Given the description of an element on the screen output the (x, y) to click on. 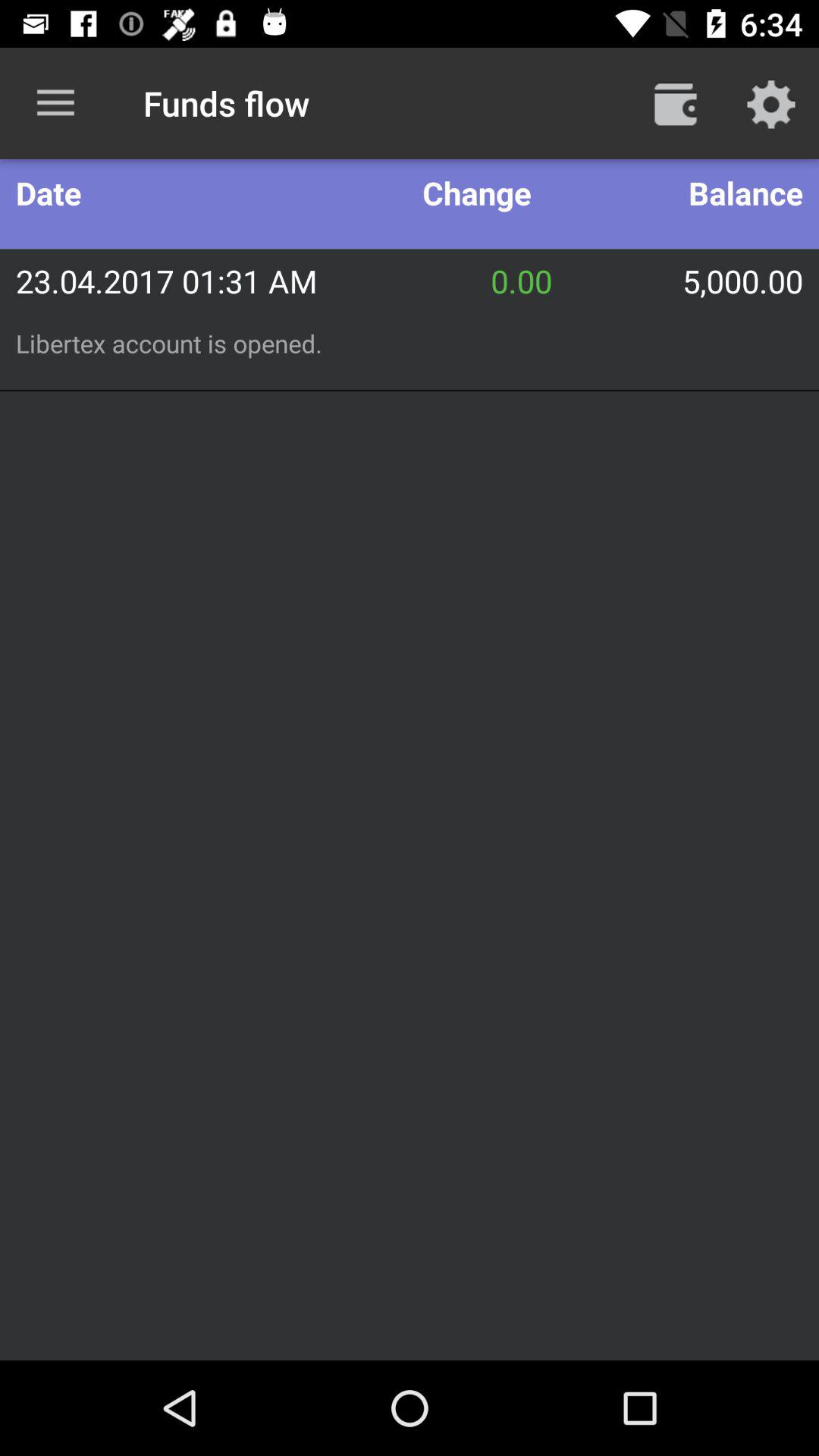
view settings option (771, 103)
